Given the description of an element on the screen output the (x, y) to click on. 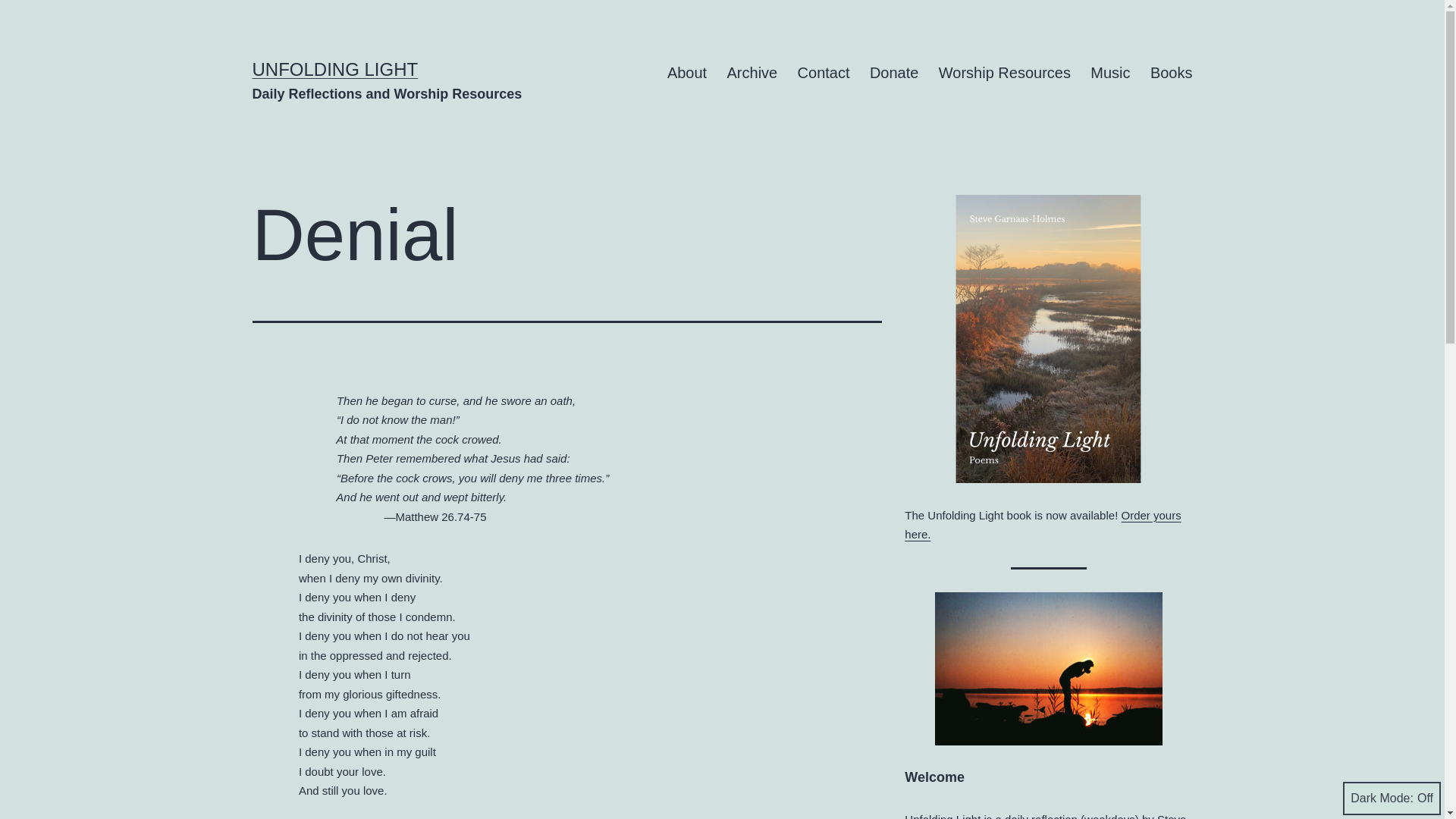
Order yours here. (1042, 524)
Dark Mode: (1391, 798)
Donate (894, 72)
About (687, 72)
Worship Resources (1004, 72)
Music (1110, 72)
Archive (751, 72)
Contact (823, 72)
Books (1171, 72)
UNFOLDING LIGHT (334, 68)
